Given the description of an element on the screen output the (x, y) to click on. 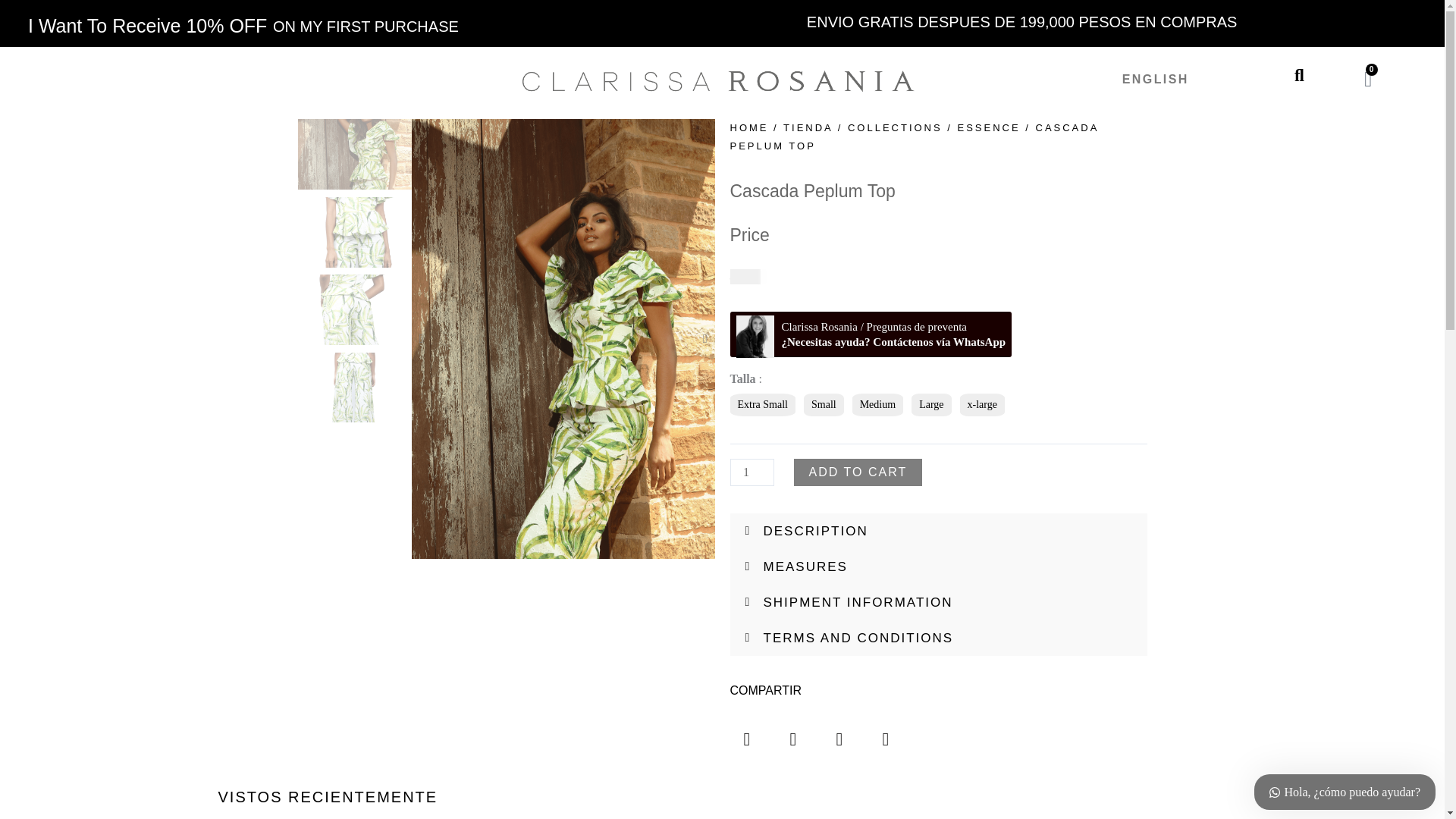
TIENDA (807, 127)
TERMS AND CONDITIONS (857, 637)
SHIPMENT INFORMATION (857, 602)
COLLECTIONS (894, 127)
HOME (748, 127)
DESCRIPTION (814, 531)
ESSENCE (989, 127)
ADD TO CART (1367, 78)
ENGLISH (858, 472)
